Given the description of an element on the screen output the (x, y) to click on. 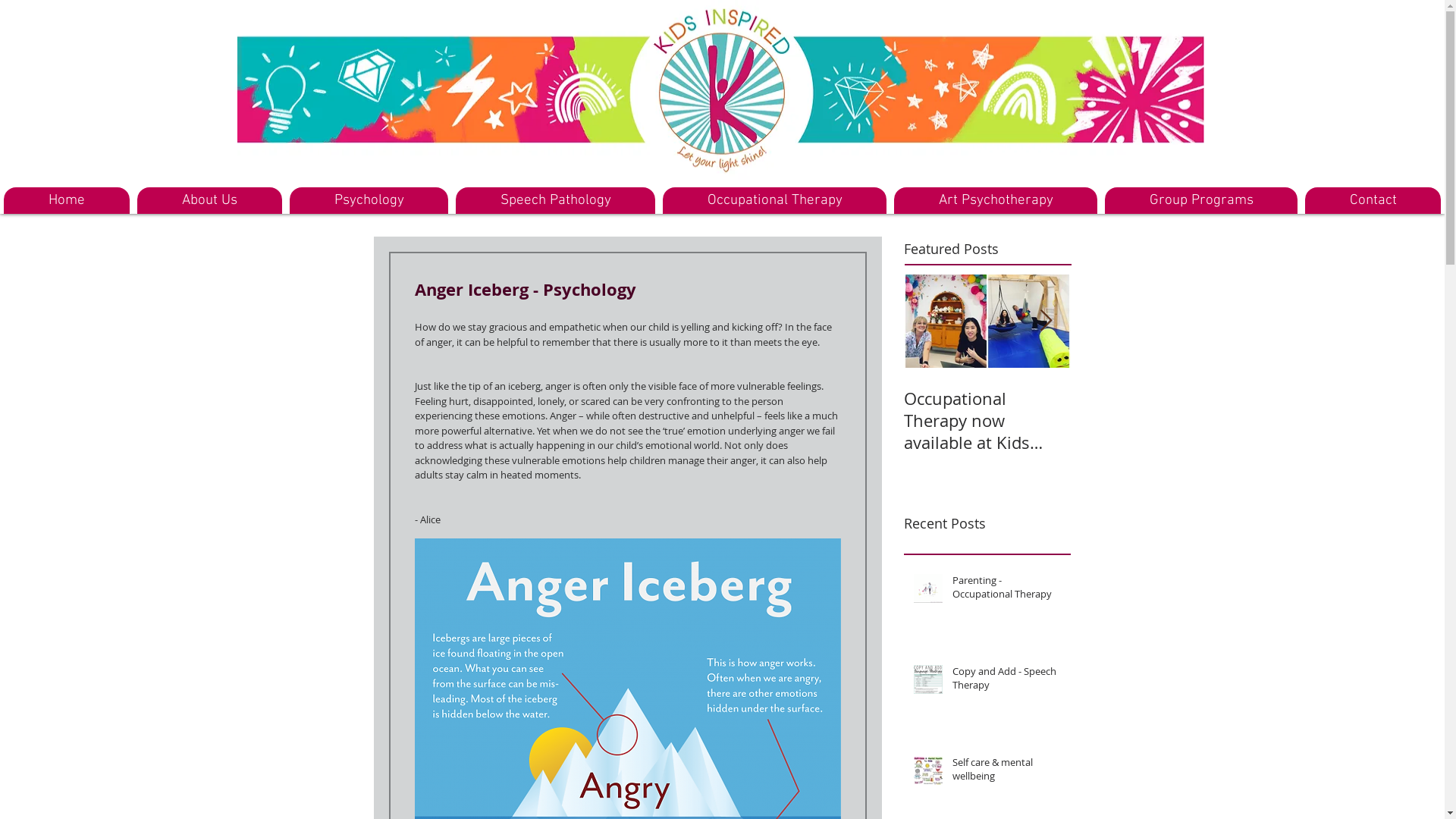
Art Psychotherapy Element type: text (995, 200)
Occupational Therapy now available at Kids Inspired Element type: text (986, 420)
Copy and Add - Speech Therapy Element type: text (1006, 680)
Join our Team! Speech Pathologist Position at Kids Inspired. Element type: text (1153, 420)
Contact Element type: text (1372, 200)
15401105_580551075473460_1836558884565365788_n.jpg Element type: hover (719, 90)
Psychology Element type: text (368, 200)
Home Element type: text (66, 200)
Parenting - Occupational Therapy Element type: text (1006, 589)
Group Programs Element type: text (1200, 200)
Speech Pathology Element type: text (555, 200)
Self care & mental wellbeing Element type: text (1006, 771)
Occupational Therapy Element type: text (774, 200)
